Given the description of an element on the screen output the (x, y) to click on. 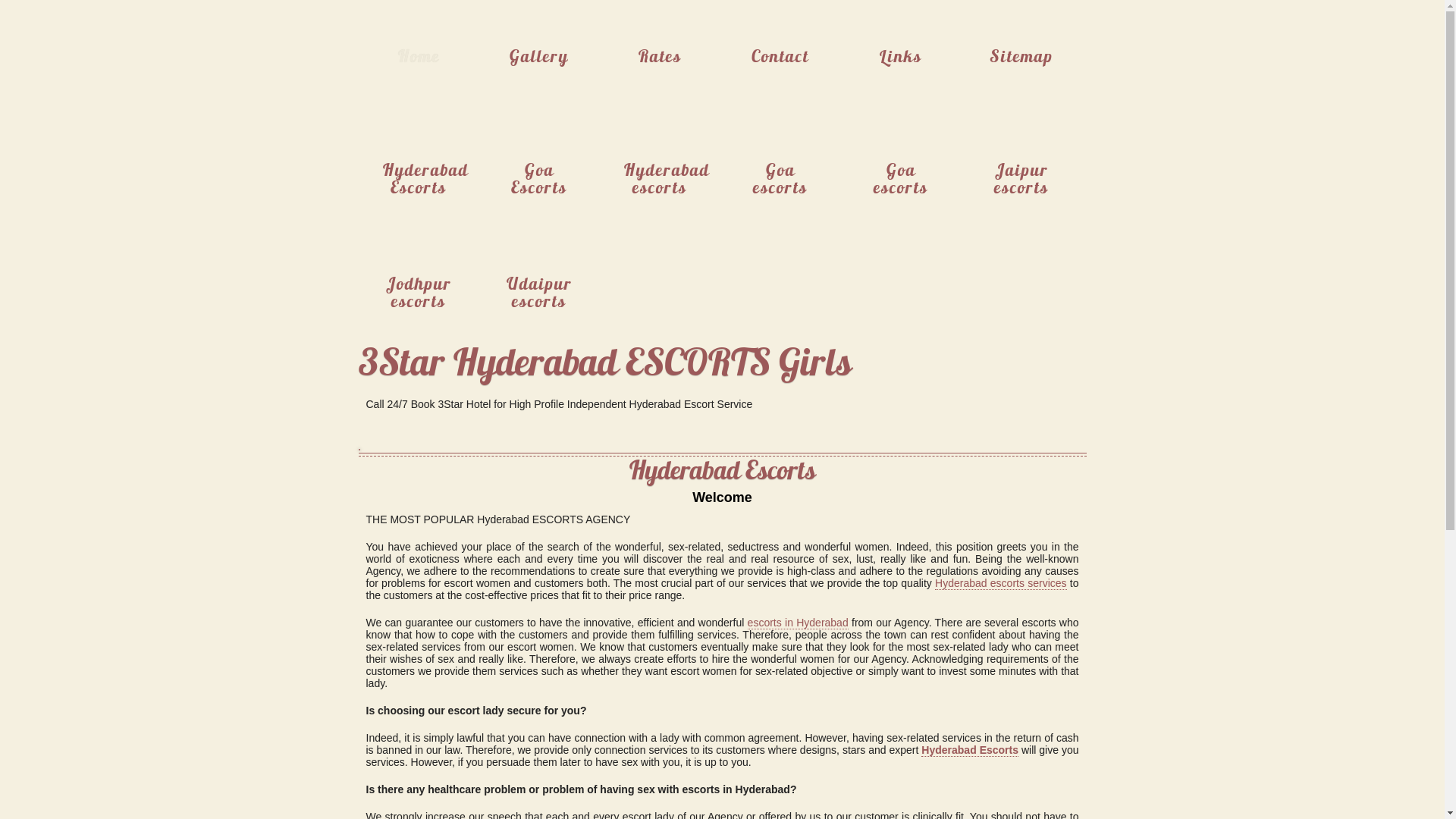
Goa escorts Element type: text (780, 170)
Links Element type: text (900, 56)
Rates Element type: text (659, 56)
Hyderabad escorts services Element type: text (1000, 583)
escorts in Hyderabad Element type: text (797, 622)
Home Element type: text (418, 56)
Contact Element type: text (780, 56)
Goa Escorts Element type: text (539, 170)
Hyderabad escorts Element type: text (659, 170)
Hyderabad Escorts Element type: text (418, 170)
Gallery Element type: text (539, 56)
Jodhpur escorts Element type: text (418, 284)
Hyderabad Escorts Element type: text (969, 749)
Sitemap Element type: text (1021, 56)
Udaipur escorts Element type: text (539, 284)
Goa escorts Element type: text (900, 170)
Jaipur escorts Element type: text (1021, 170)
